Given the description of an element on the screen output the (x, y) to click on. 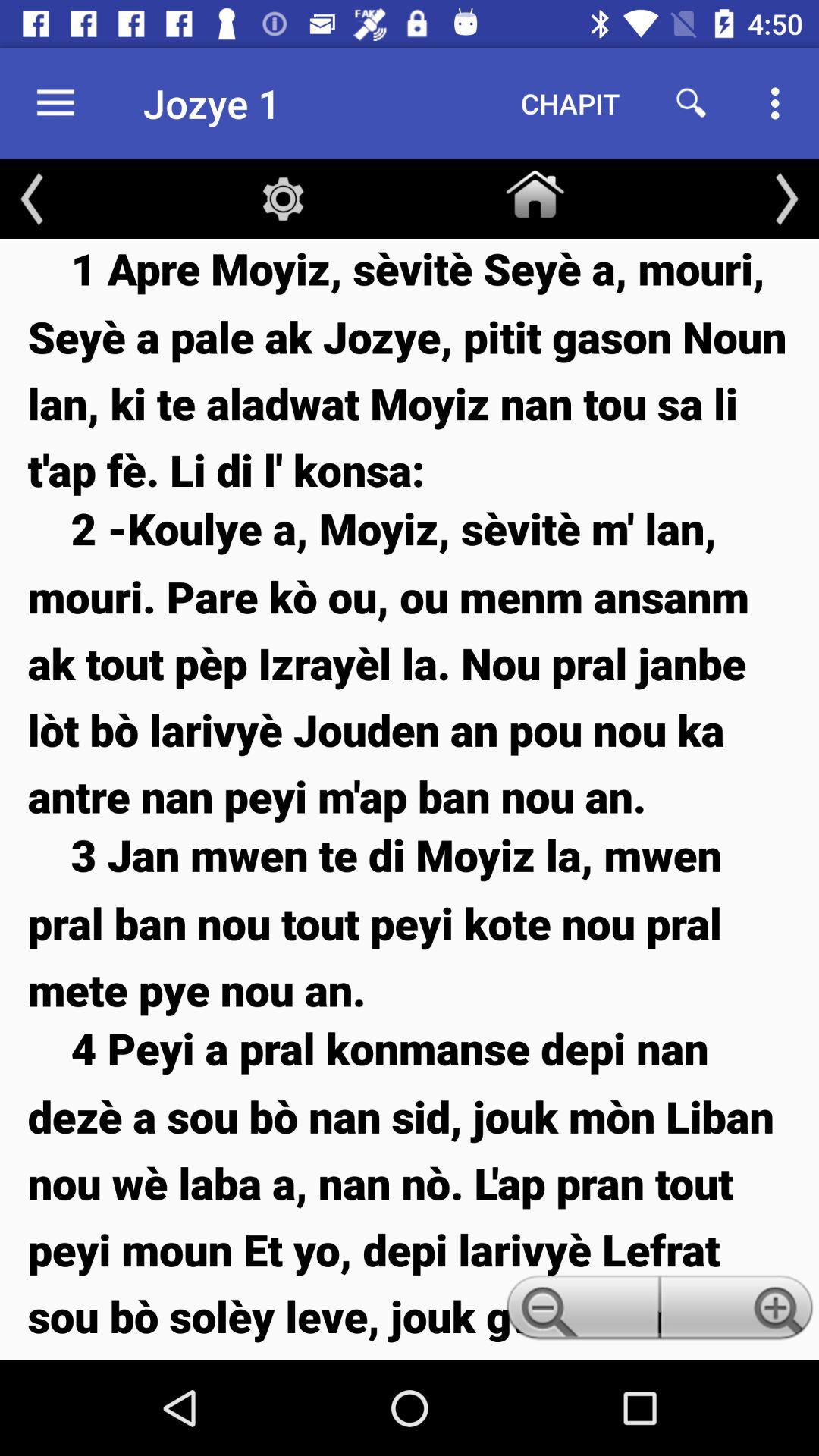
select item below the chapit item (535, 190)
